Given the description of an element on the screen output the (x, y) to click on. 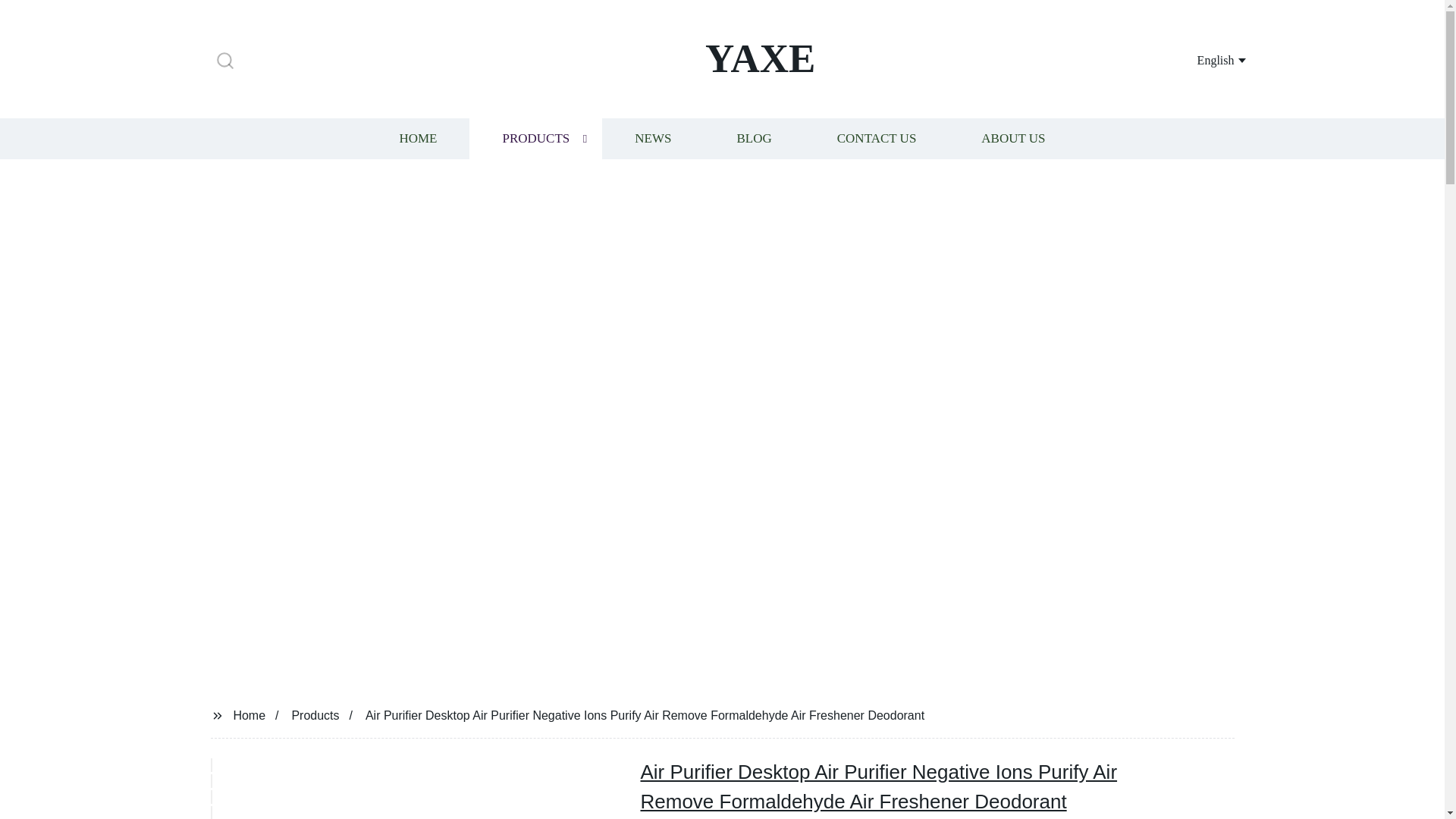
English (1203, 59)
PRODUCTS (535, 137)
CONTACT US (877, 137)
BLOG (753, 137)
NEWS (652, 137)
Products (315, 714)
Home (248, 714)
ABOUT US (1013, 137)
English (1203, 59)
HOME (417, 137)
